Given the description of an element on the screen output the (x, y) to click on. 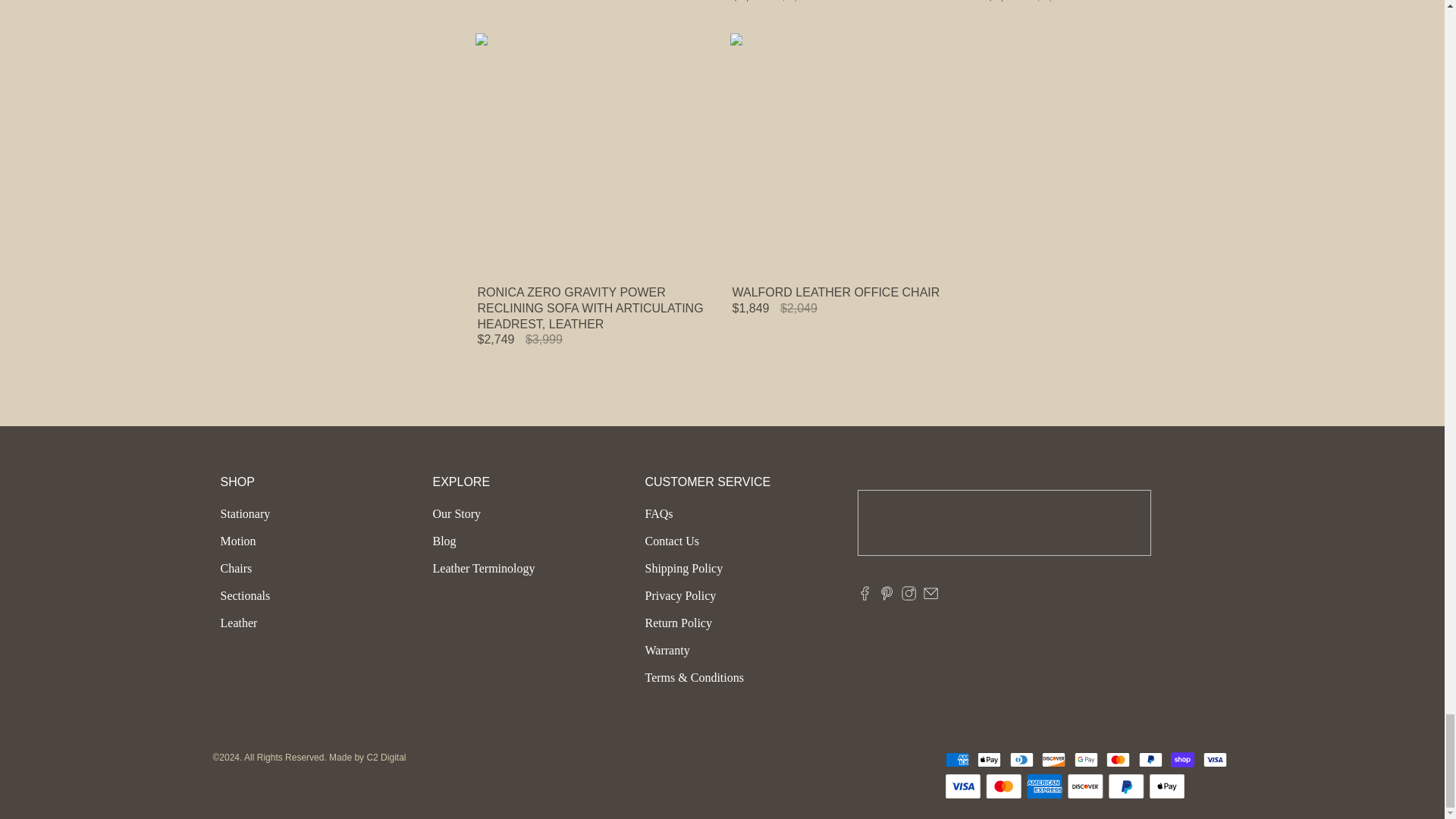
Apple Pay (991, 760)
Email Coja (930, 595)
Visa (1216, 760)
Discover (1056, 760)
Coja on Instagram (908, 595)
Coja on Pinterest (886, 595)
PayPal (1152, 760)
Coja (1003, 523)
Diners Club (1024, 760)
Shop Pay (1184, 760)
Google Pay (1088, 760)
Mastercard (1120, 760)
American Express (959, 760)
Coja on Facebook (863, 595)
